Given the description of an element on the screen output the (x, y) to click on. 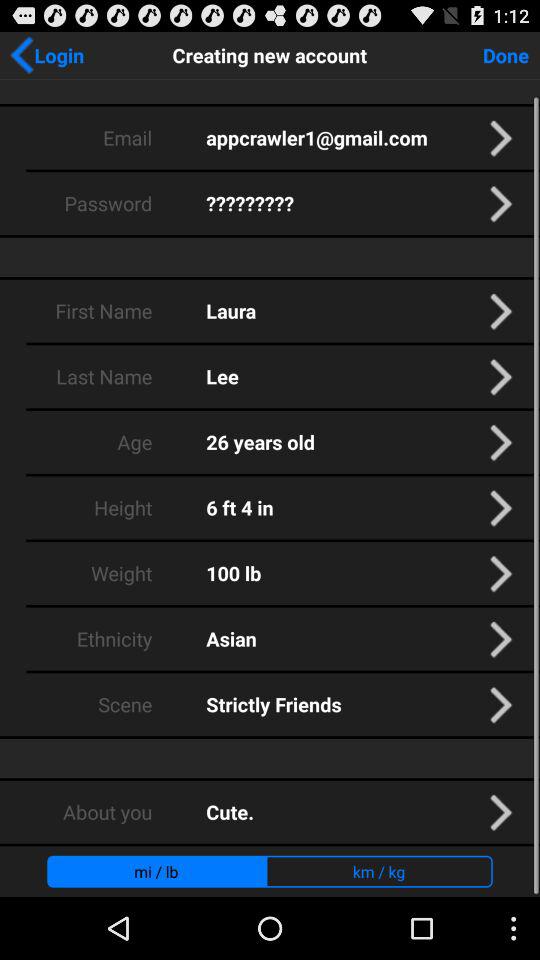
click on the text done (507, 55)
